Given the description of an element on the screen output the (x, y) to click on. 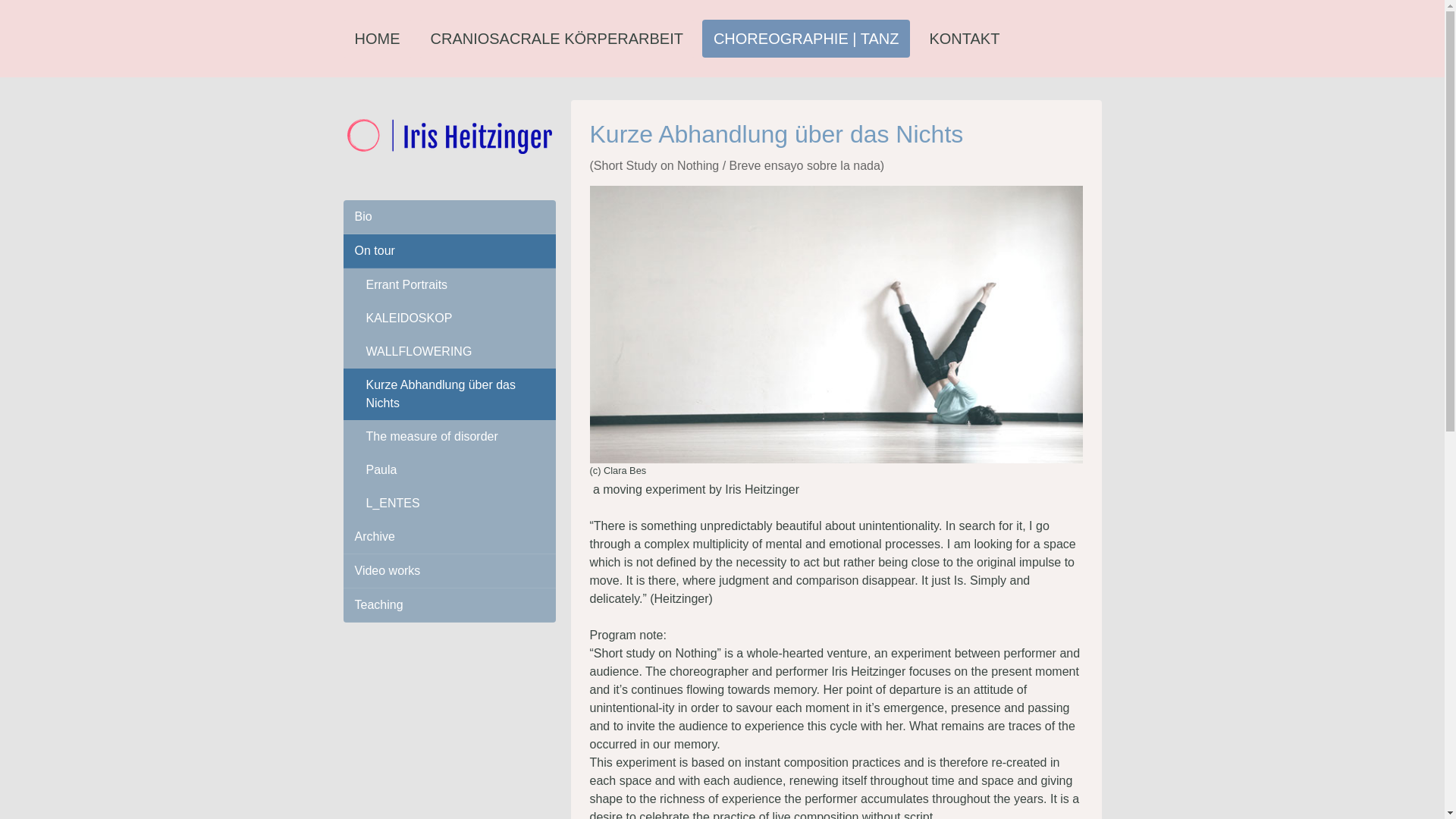
KONTAKT (963, 38)
Bio (448, 216)
Teaching (448, 605)
Video works (448, 571)
On tour (448, 251)
HOME (376, 38)
Archive (448, 537)
KALEIDOSKOP (448, 318)
The measure of disorder (448, 436)
Errant Portraits (448, 285)
WALLFLOWERING (448, 351)
Paula (448, 469)
